Given the description of an element on the screen output the (x, y) to click on. 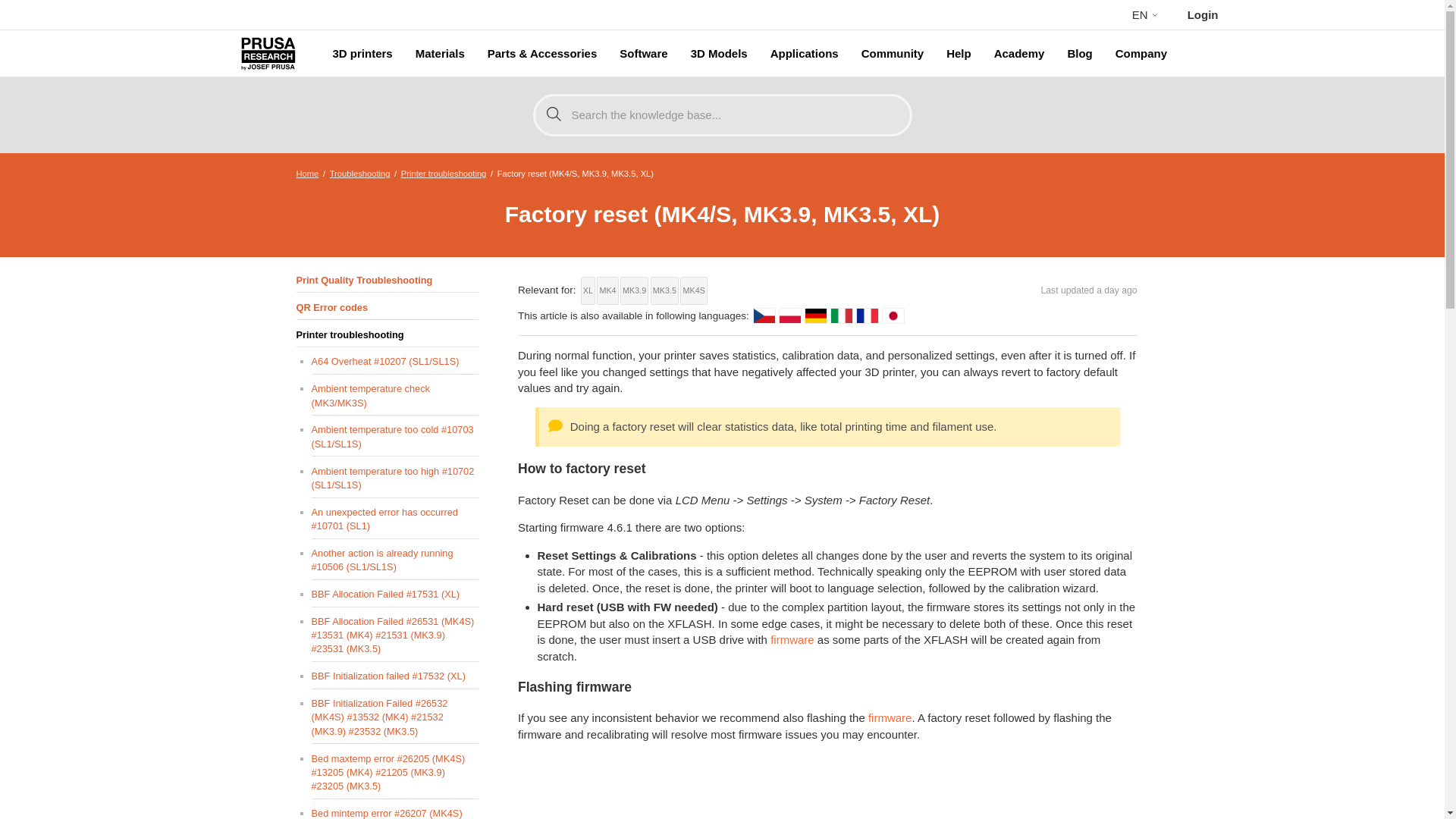
QR Error codes (386, 307)
PL (789, 315)
Community (893, 53)
Print Quality Troubleshooting (386, 280)
Software (643, 53)
3D printers (362, 53)
Materials (440, 53)
Printer troubleshooting (443, 173)
DE (816, 315)
IT (841, 315)
